Given the description of an element on the screen output the (x, y) to click on. 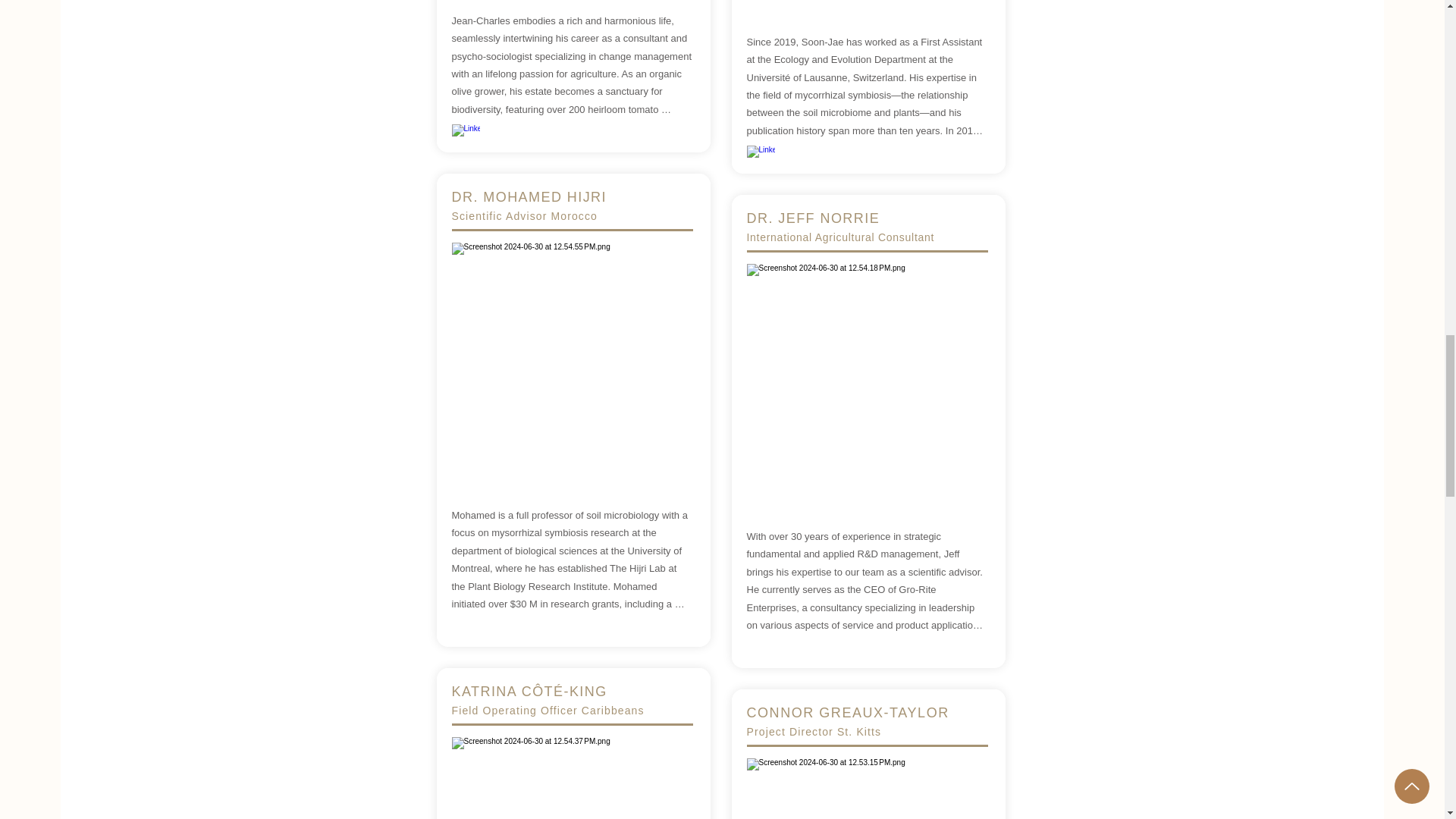
Dr. Soon-Jae Lee (866, 5)
Connor Greaux-Taylor (866, 788)
Michel Kaine (866, 384)
Dr. Mohamed Hijri (572, 363)
